Given the description of an element on the screen output the (x, y) to click on. 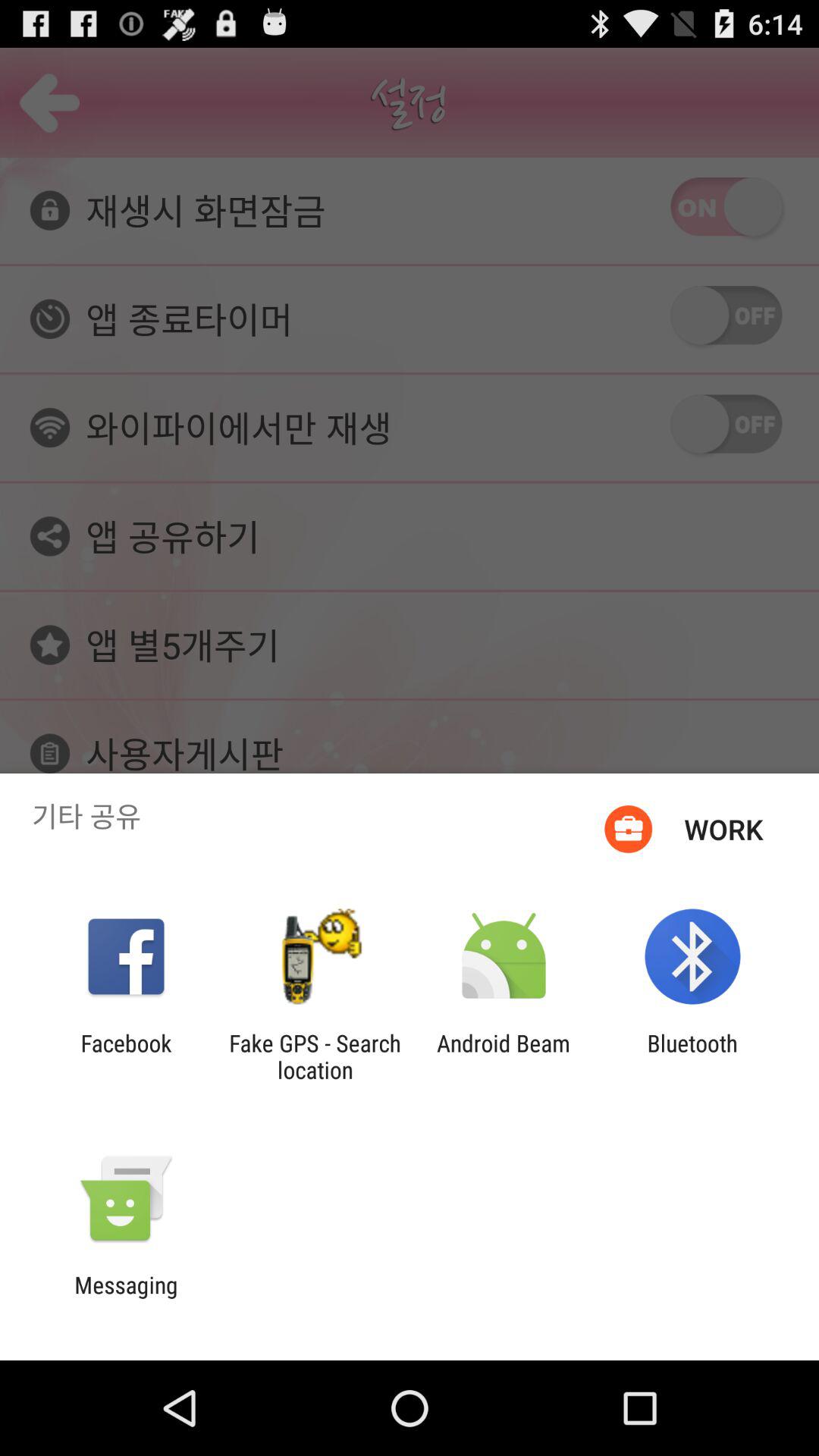
choose item to the right of the fake gps search icon (503, 1056)
